Given the description of an element on the screen output the (x, y) to click on. 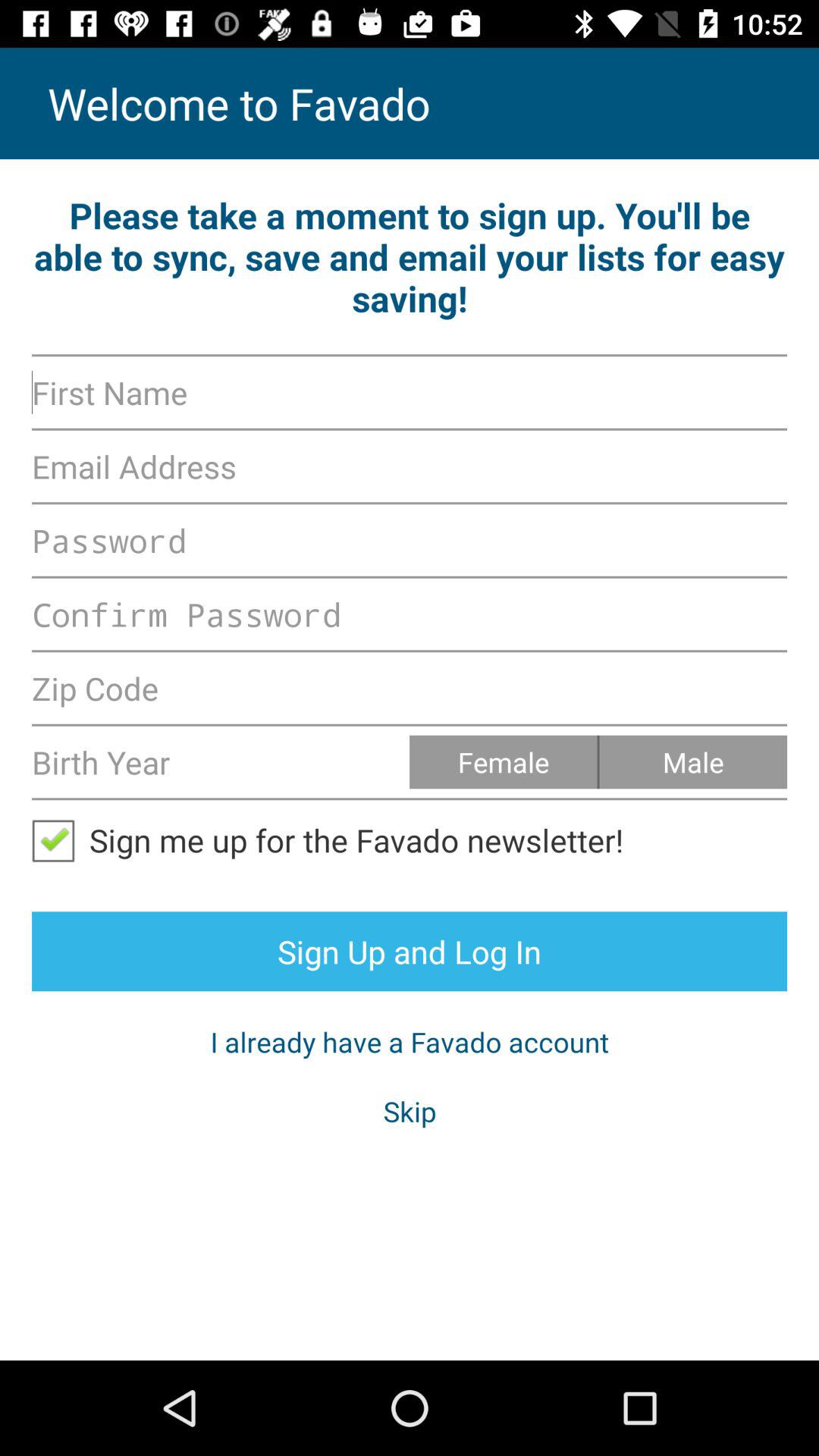
uncheck or check the information (60, 839)
